Given the description of an element on the screen output the (x, y) to click on. 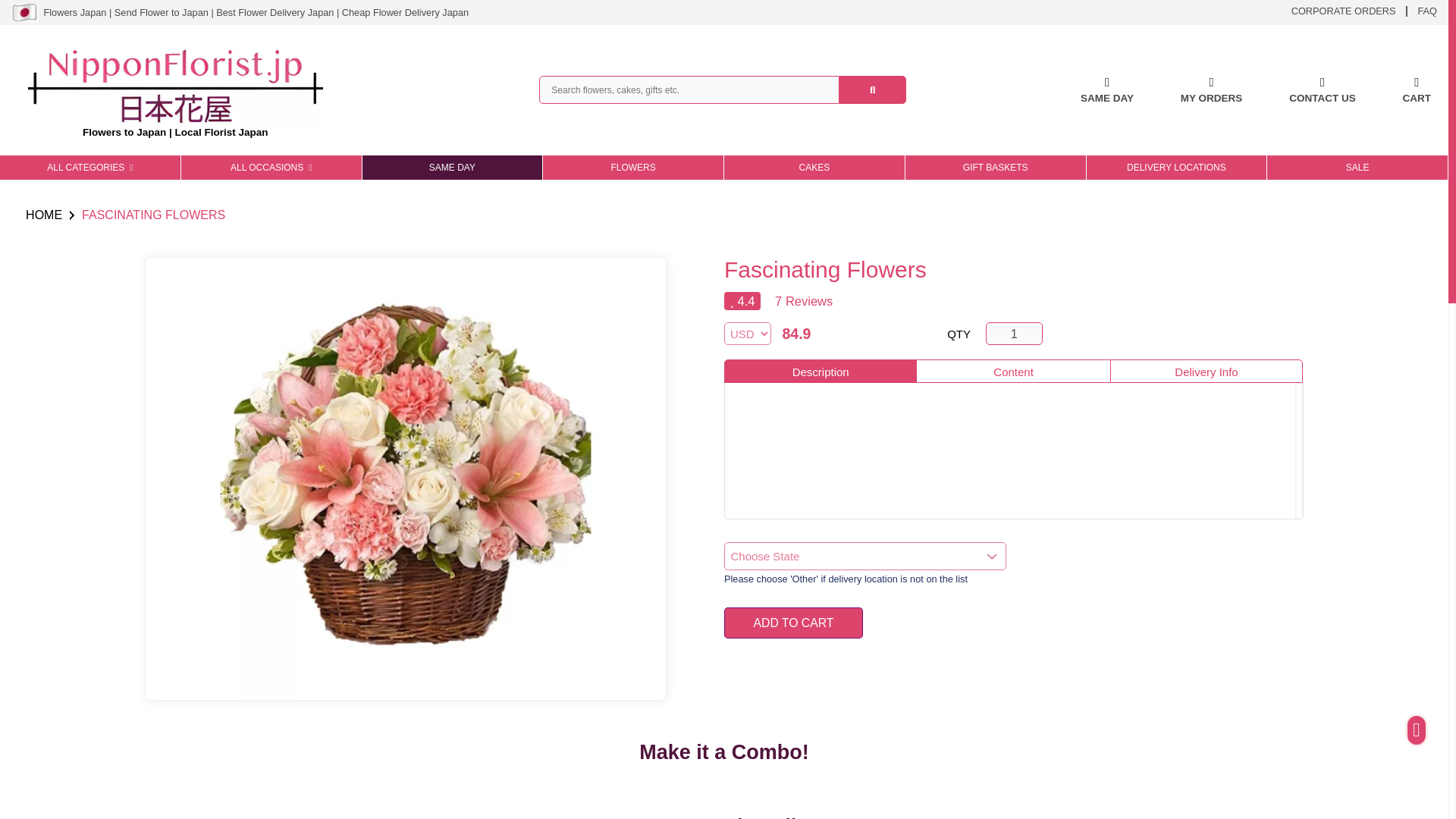
CART (1416, 90)
ALL OCCASIONS   (270, 167)
CONTACT US (1321, 90)
SAME DAY (1107, 90)
1 (1014, 333)
FAQ (1426, 9)
ALL CATEGORIES   (90, 167)
3 characters minimum (689, 90)
CORPORATE ORDERS (1343, 9)
